Given the description of an element on the screen output the (x, y) to click on. 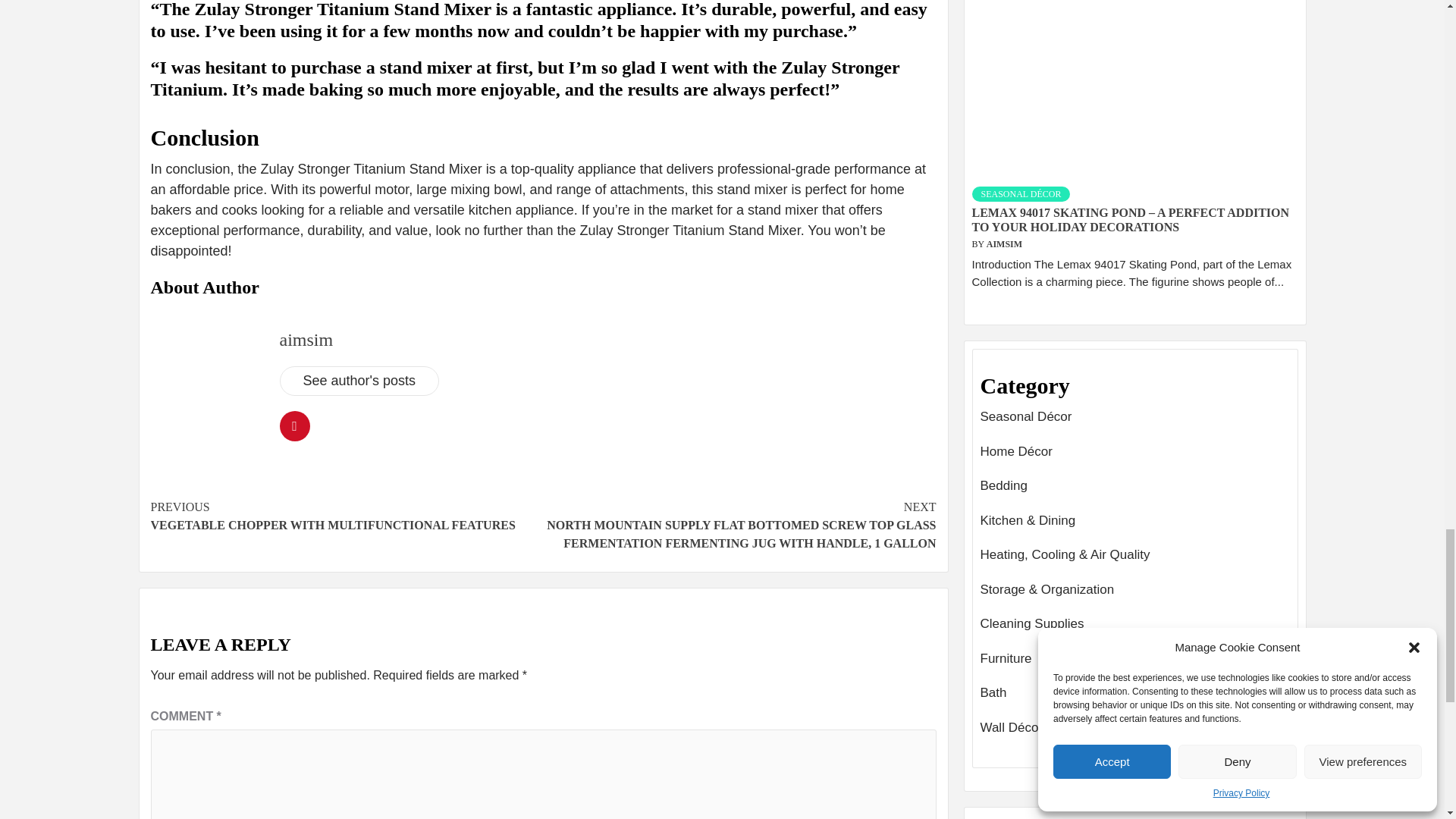
aimsim (306, 339)
See author's posts (359, 379)
